Given the description of an element on the screen output the (x, y) to click on. 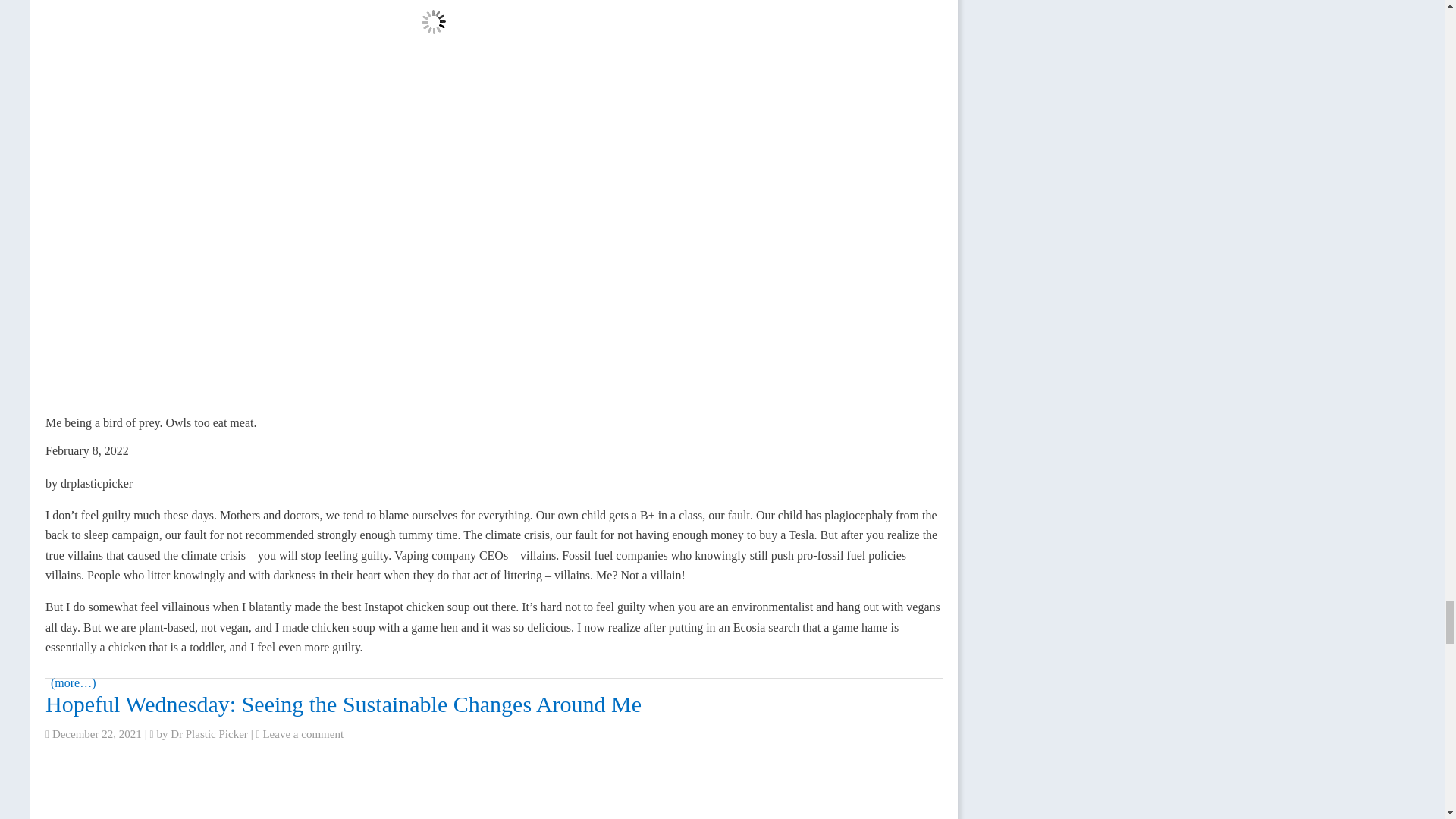
Leave a comment (302, 734)
Dr Plastic Picker (208, 734)
Hopeful Wednesday: Seeing the Sustainable Changes Around Me (343, 703)
